Given the description of an element on the screen output the (x, y) to click on. 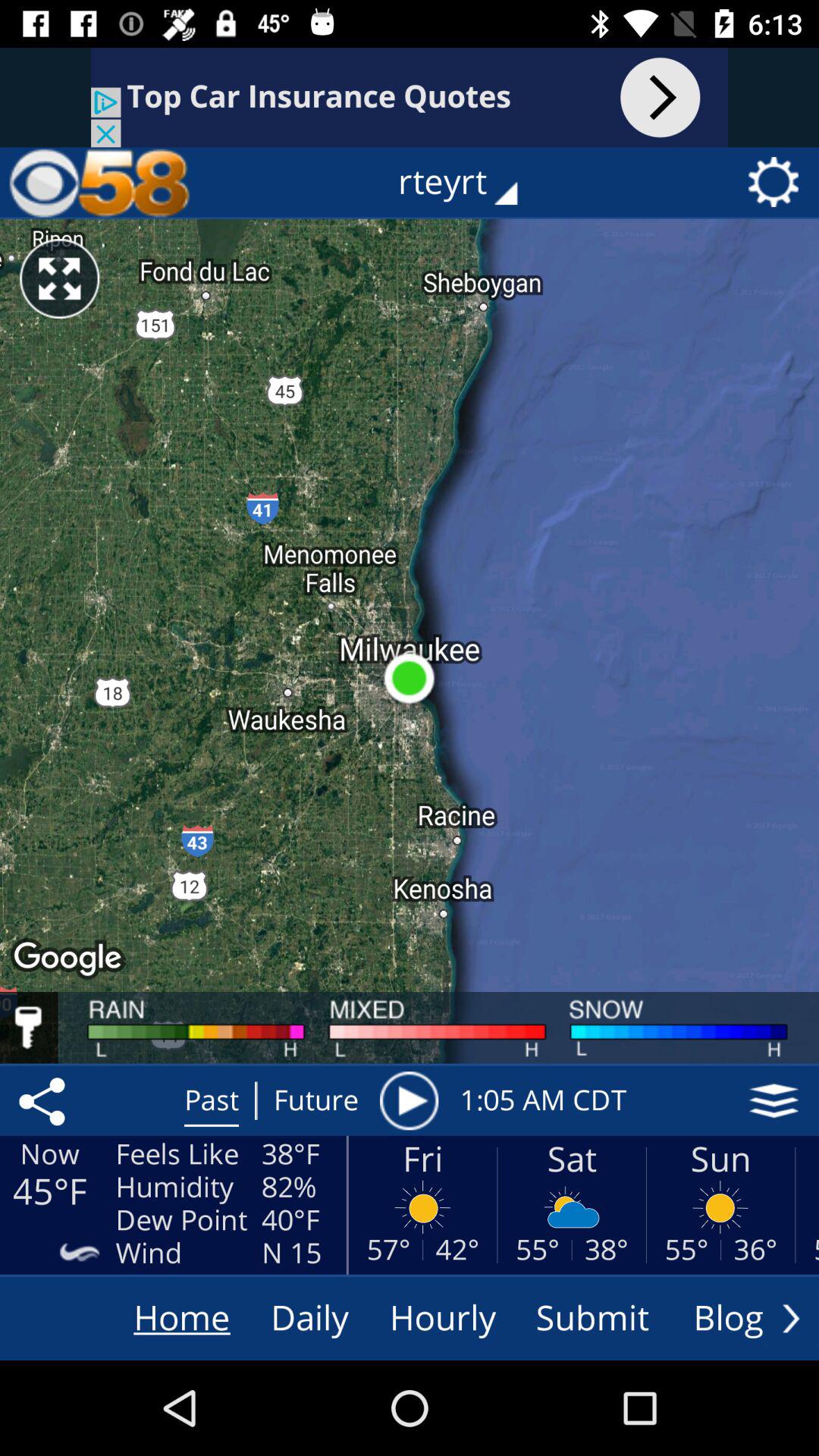
overlay (774, 1100)
